Given the description of an element on the screen output the (x, y) to click on. 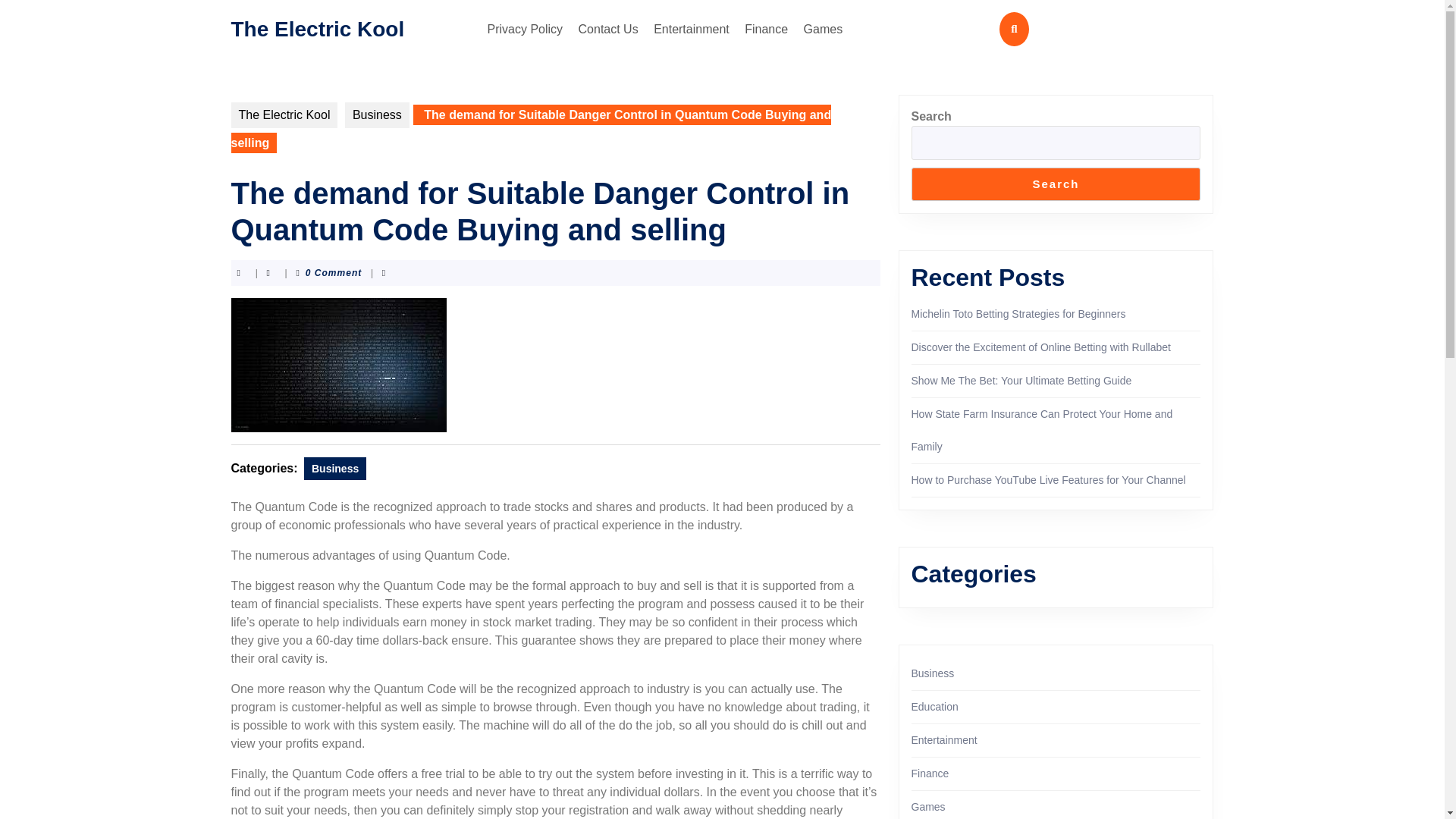
Discover the Excitement of Online Betting with Rullabet (1040, 346)
Privacy Policy (524, 28)
Search (1056, 183)
Show Me The Bet: Your Ultimate Betting Guide (1021, 380)
Contact Us (608, 28)
Michelin Toto Betting Strategies for Beginners (1018, 313)
Finance (765, 28)
How State Farm Insurance Can Protect Your Home and Family (1042, 429)
How to Purchase YouTube Live Features for Your Channel (1048, 480)
Games (822, 28)
